Given the description of an element on the screen output the (x, y) to click on. 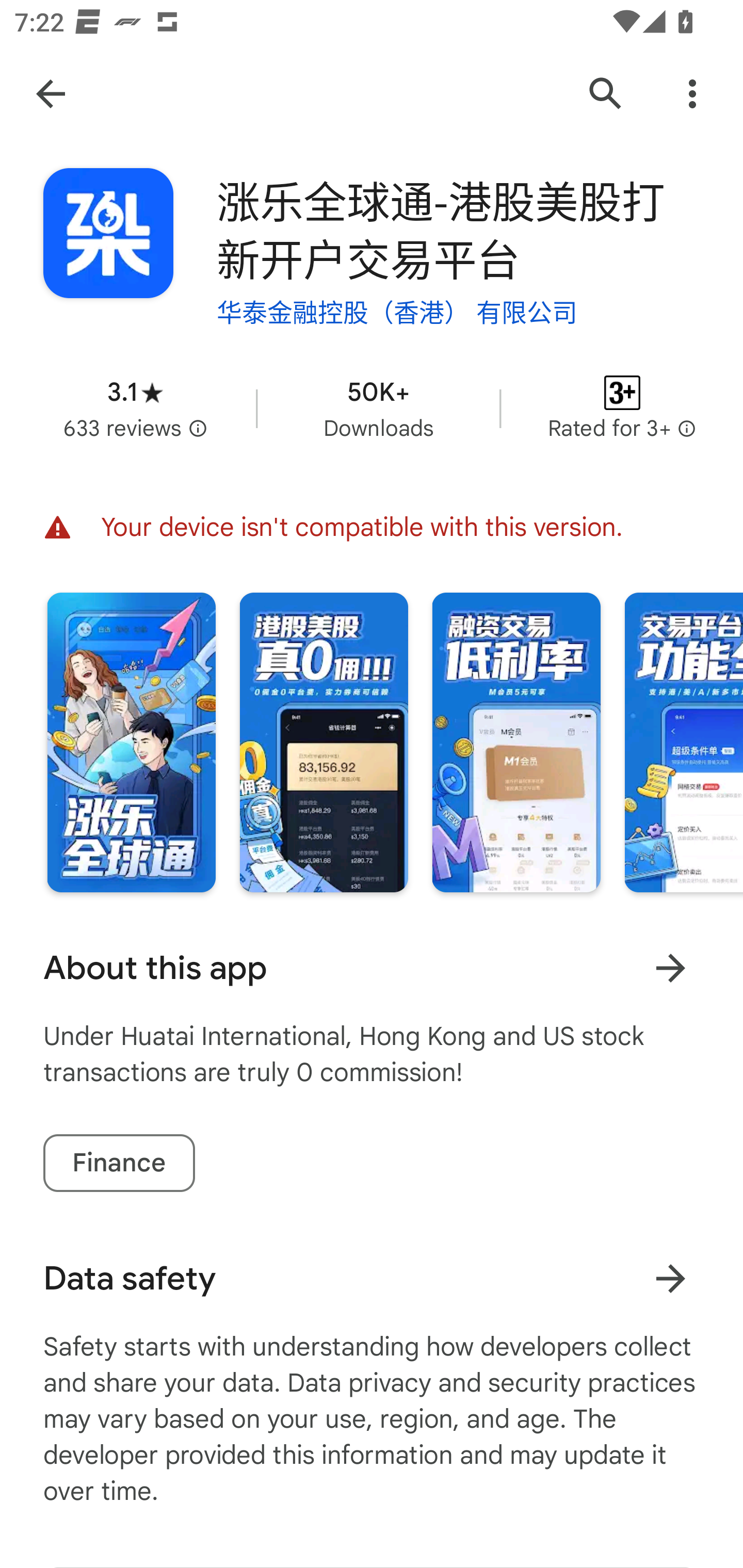
Navigate up (50, 93)
Search Google Play (605, 93)
More Options (692, 93)
华泰金融控股（香港） 有限公司 (396, 311)
Average rating 3.1 stars in 633 reviews (135, 408)
Content rating Rated for 3+ (622, 408)
Screenshot "1" of "6" (130, 742)
Screenshot "2" of "6" (323, 742)
Screenshot "3" of "6" (515, 742)
Screenshot "4" of "6" (683, 742)
About this app Learn more About this app (371, 968)
Learn more About this app (670, 968)
Finance tag (118, 1162)
Data safety Learn more about data safety (371, 1278)
Learn more about data safety (670, 1278)
